Given the description of an element on the screen output the (x, y) to click on. 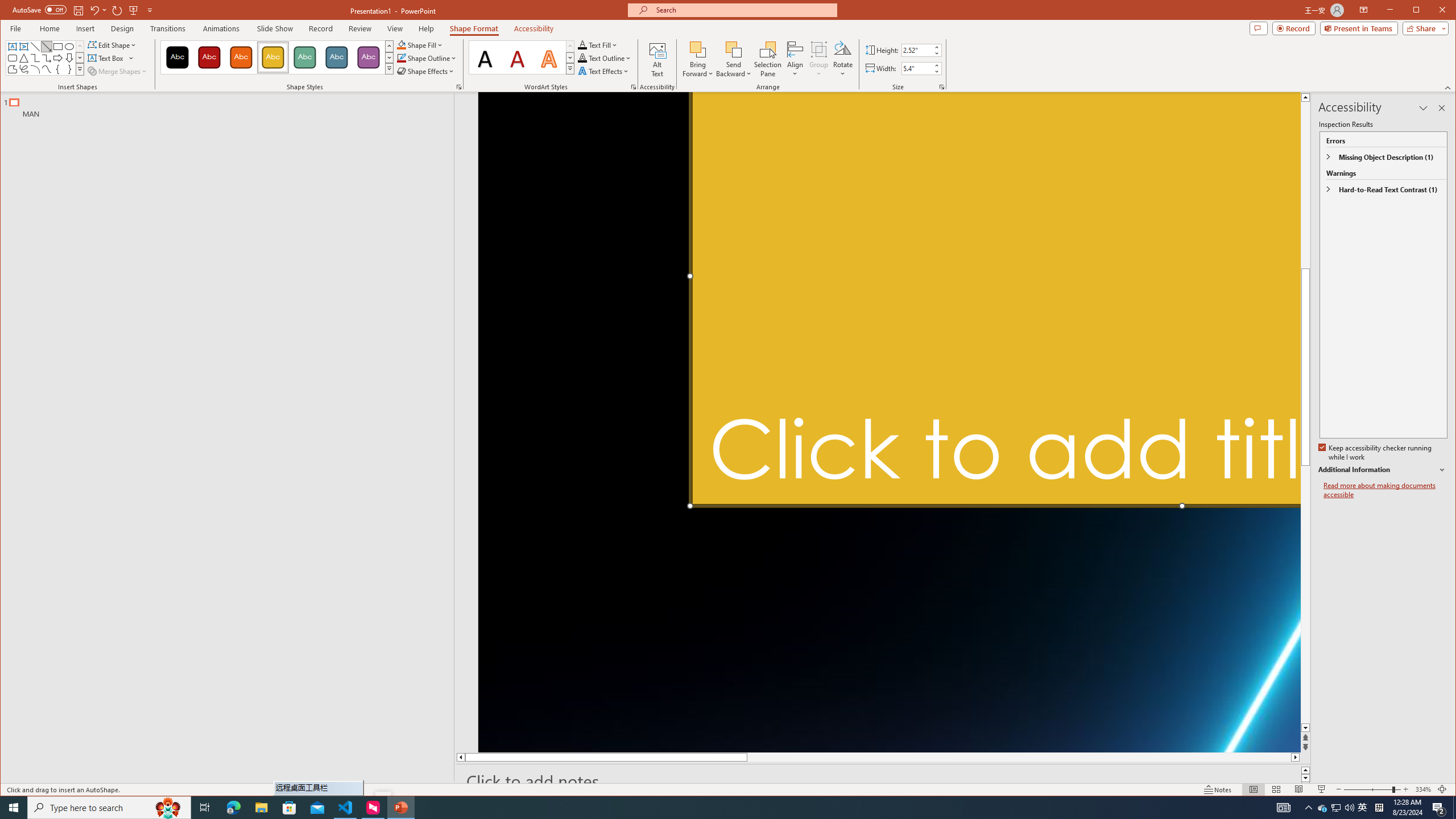
Shape Outline (426, 57)
Page down (1305, 603)
Send Backward (733, 59)
Connector: Elbow Arrow (46, 57)
